Given the description of an element on the screen output the (x, y) to click on. 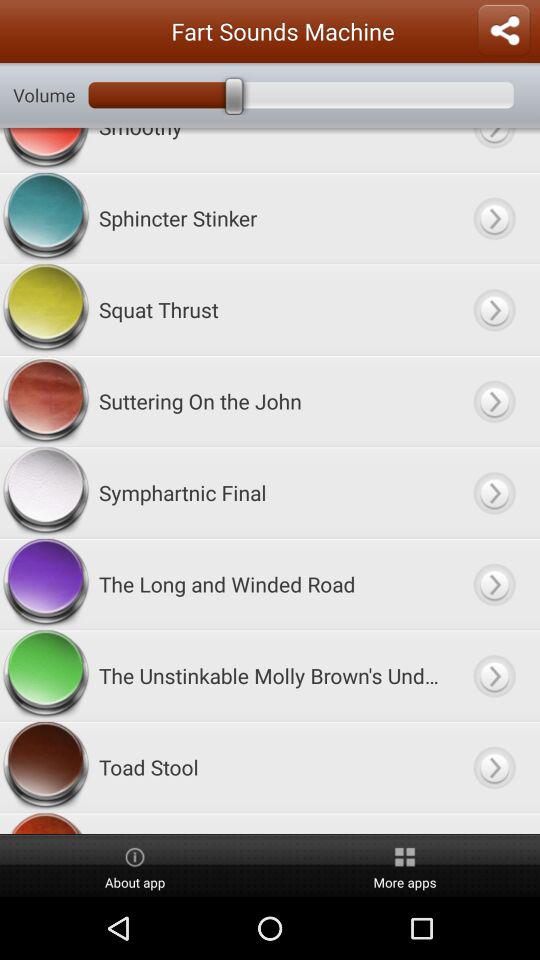
turn off item to the left of the more apps item (135, 866)
